Given the description of an element on the screen output the (x, y) to click on. 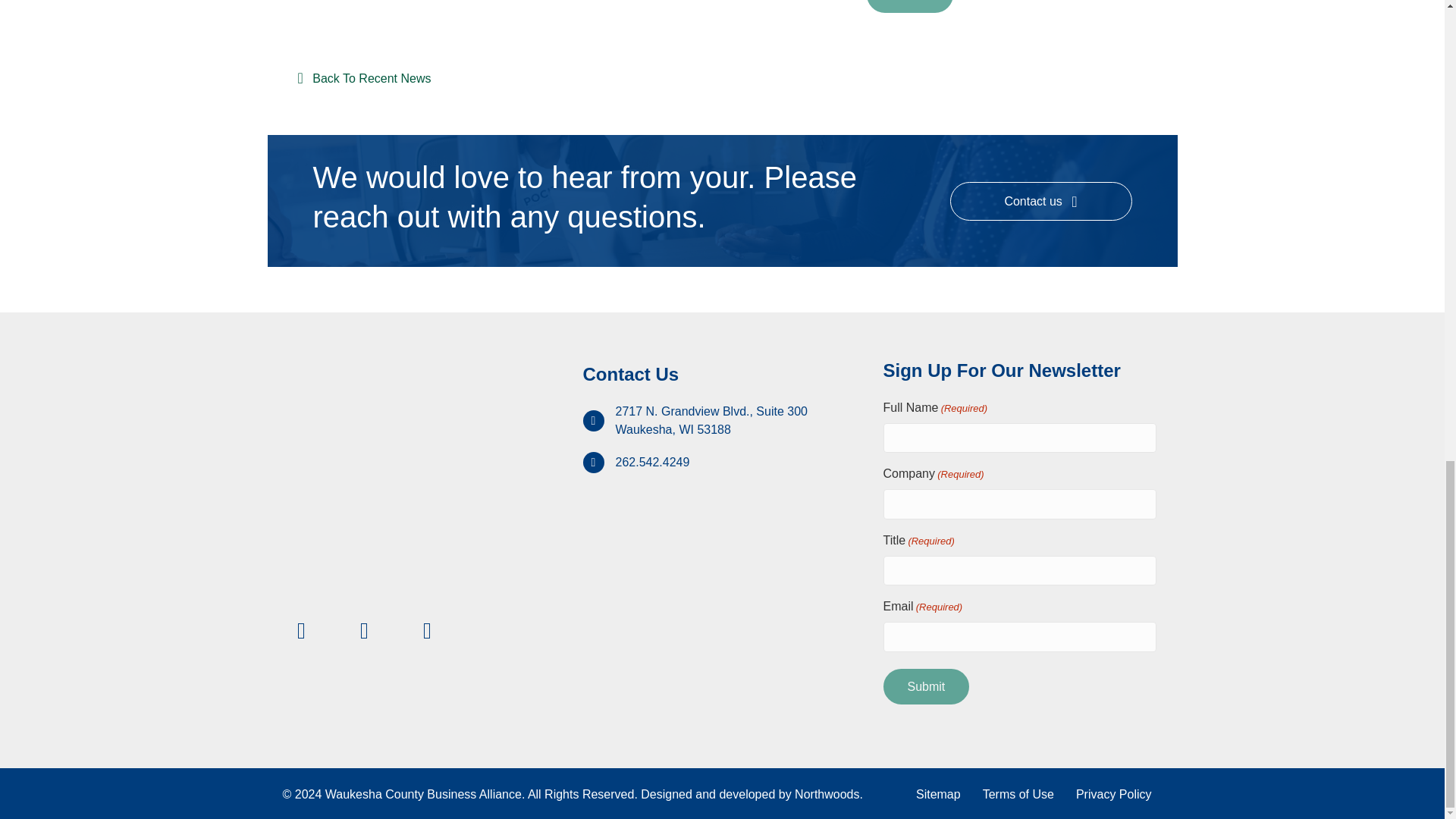
Submit (909, 6)
LinkedIn (365, 630)
YouTube (426, 630)
Submit (925, 686)
Facebook (301, 630)
